Given the description of an element on the screen output the (x, y) to click on. 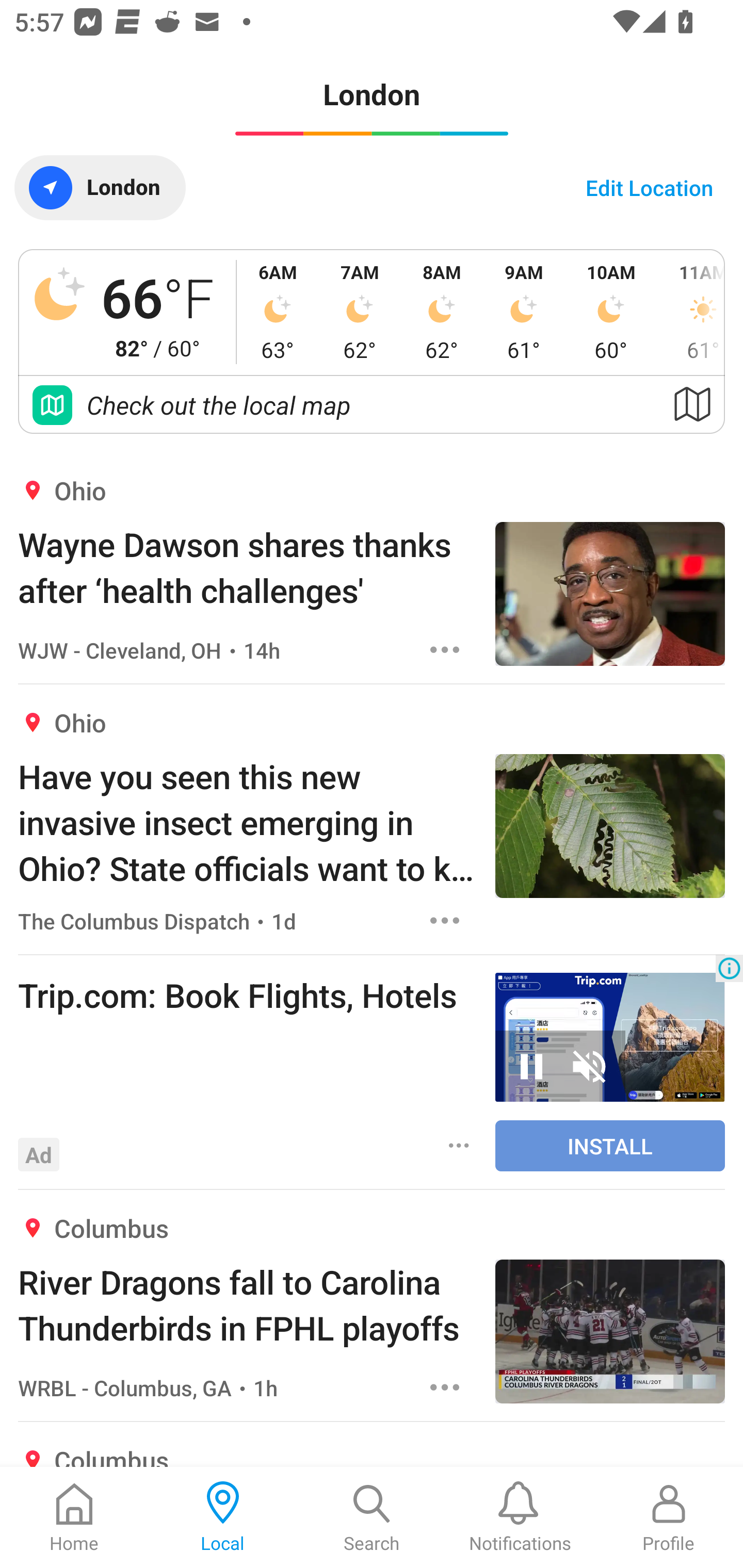
London (99, 187)
Edit Location (648, 187)
6AM 63° (277, 311)
7AM 62° (359, 311)
8AM 62° (441, 311)
9AM 61° (523, 311)
10AM 60° (610, 311)
11AM 61° (691, 311)
Check out the local map (371, 405)
Options (444, 649)
Options (444, 920)
Ad Choices Icon (729, 967)
Trip.com: Book Flights, Hotels (247, 994)
INSTALL (610, 1145)
Options (459, 1145)
Options (444, 1387)
Home (74, 1517)
Search (371, 1517)
Notifications (519, 1517)
Profile (668, 1517)
